Given the description of an element on the screen output the (x, y) to click on. 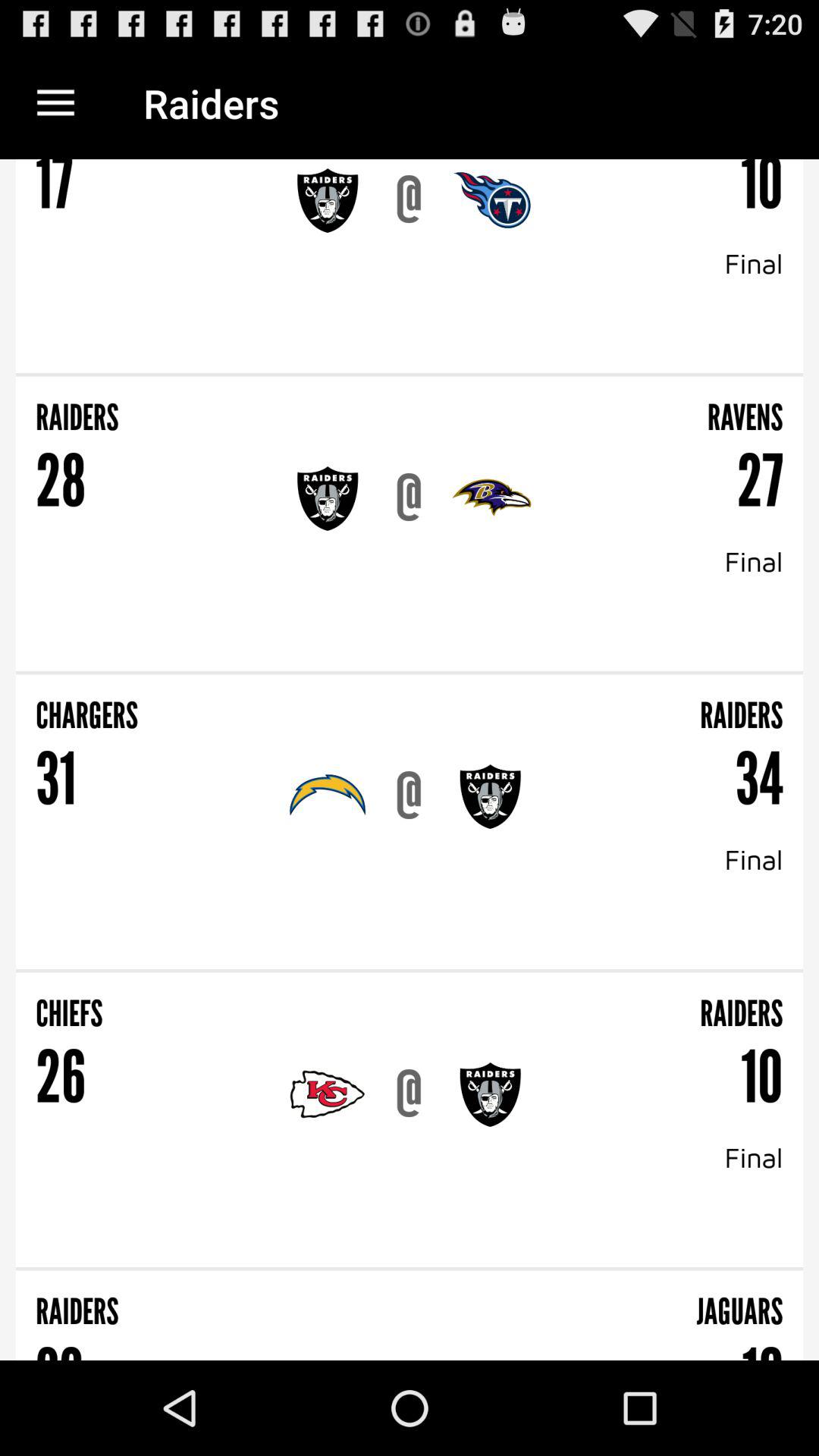
press the item below the chargers item (55, 779)
